Given the description of an element on the screen output the (x, y) to click on. 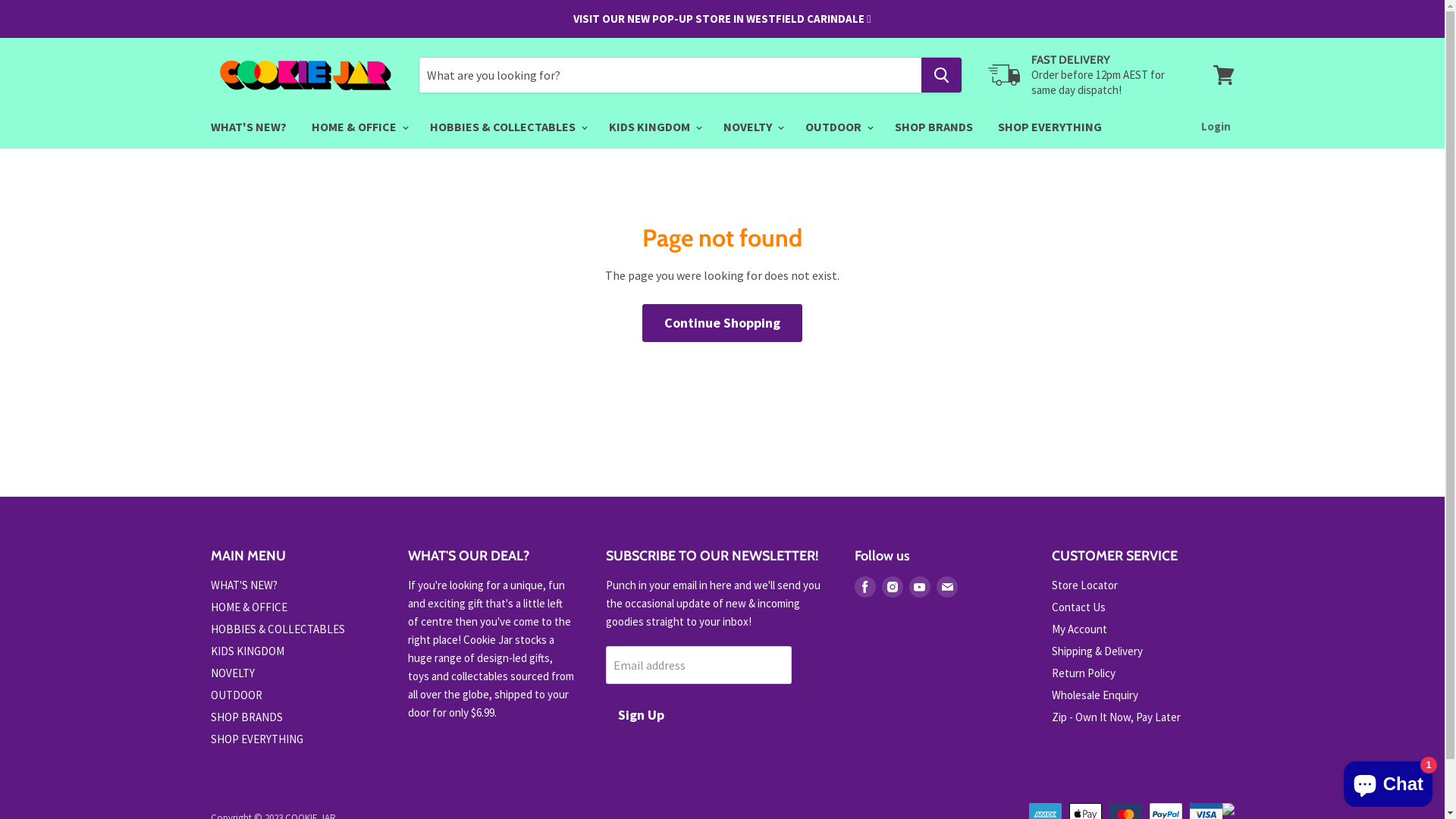
Return Policy Element type: text (1083, 672)
HOME & OFFICE Element type: text (358, 126)
Sign Up Element type: text (640, 715)
Find us on E-mail Element type: text (946, 586)
FAST DELIVERY
Order before 12pm AEST for same day dispatch! Element type: text (1084, 75)
SHOP BRANDS Element type: text (246, 716)
Wholesale Enquiry Element type: text (1094, 694)
Find us on Youtube Element type: text (918, 586)
HOME & OFFICE Element type: text (248, 606)
KIDS KINGDOM Element type: text (653, 126)
SHOP BRANDS Element type: text (932, 126)
WHAT'S NEW? Element type: text (247, 126)
OUTDOOR Element type: text (836, 126)
Contact Us Element type: text (1078, 606)
NOVELTY Element type: text (750, 126)
OUTDOOR Element type: text (236, 694)
HOBBIES & COLLECTABLES Element type: text (277, 628)
NOVELTY Element type: text (232, 672)
KIDS KINGDOM Element type: text (247, 650)
Find us on Facebook Element type: text (864, 586)
Continue Shopping Element type: text (722, 323)
Zip - Own It Now, Pay Later Element type: text (1115, 716)
Store Locator Element type: text (1084, 584)
Shopify online store chat Element type: hover (1388, 780)
Find us on Instagram Element type: text (891, 586)
View cart Element type: text (1223, 74)
Login Element type: text (1215, 126)
Shipping & Delivery Element type: text (1096, 650)
SHOP EVERYTHING Element type: text (1048, 126)
HOBBIES & COLLECTABLES Element type: text (506, 126)
SHOP EVERYTHING Element type: text (256, 738)
WHAT'S NEW? Element type: text (243, 584)
My Account Element type: text (1079, 628)
